Given the description of an element on the screen output the (x, y) to click on. 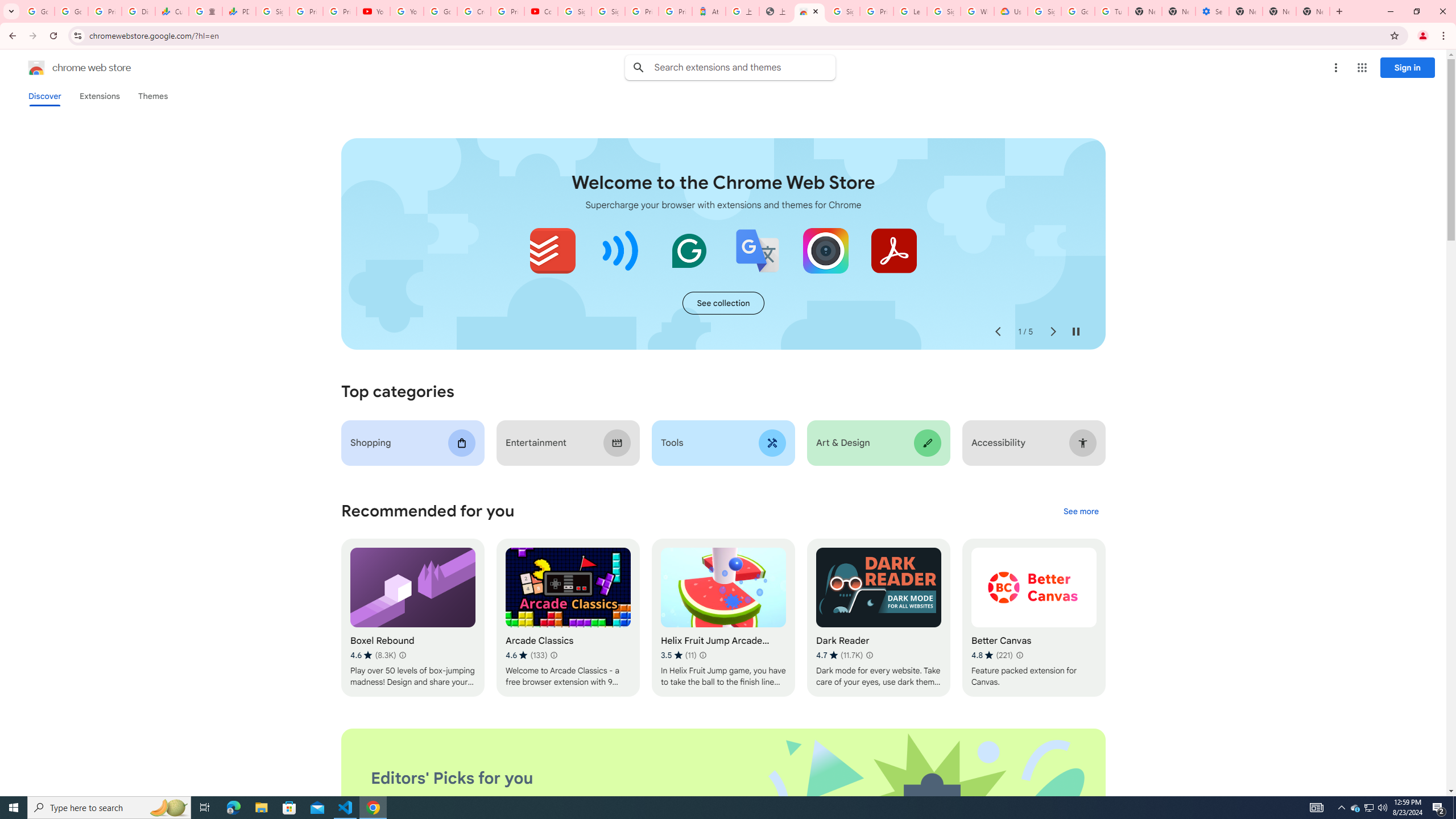
Adobe Acrobat: PDF edit, convert, sign tools (893, 250)
Content Creator Programs & Opportunities - YouTube Creators (541, 11)
Who are Google's partners? - Privacy and conditions - Google (976, 11)
Chrome Web Store logo (36, 67)
Volume Master (620, 250)
Sign in - Google Accounts (943, 11)
Sign in - Google Accounts (272, 11)
Arcade Classics (567, 617)
Pause auto-play (1075, 331)
New Tab (1246, 11)
See more of the "Extensions starter kit" collection (722, 303)
